Given the description of an element on the screen output the (x, y) to click on. 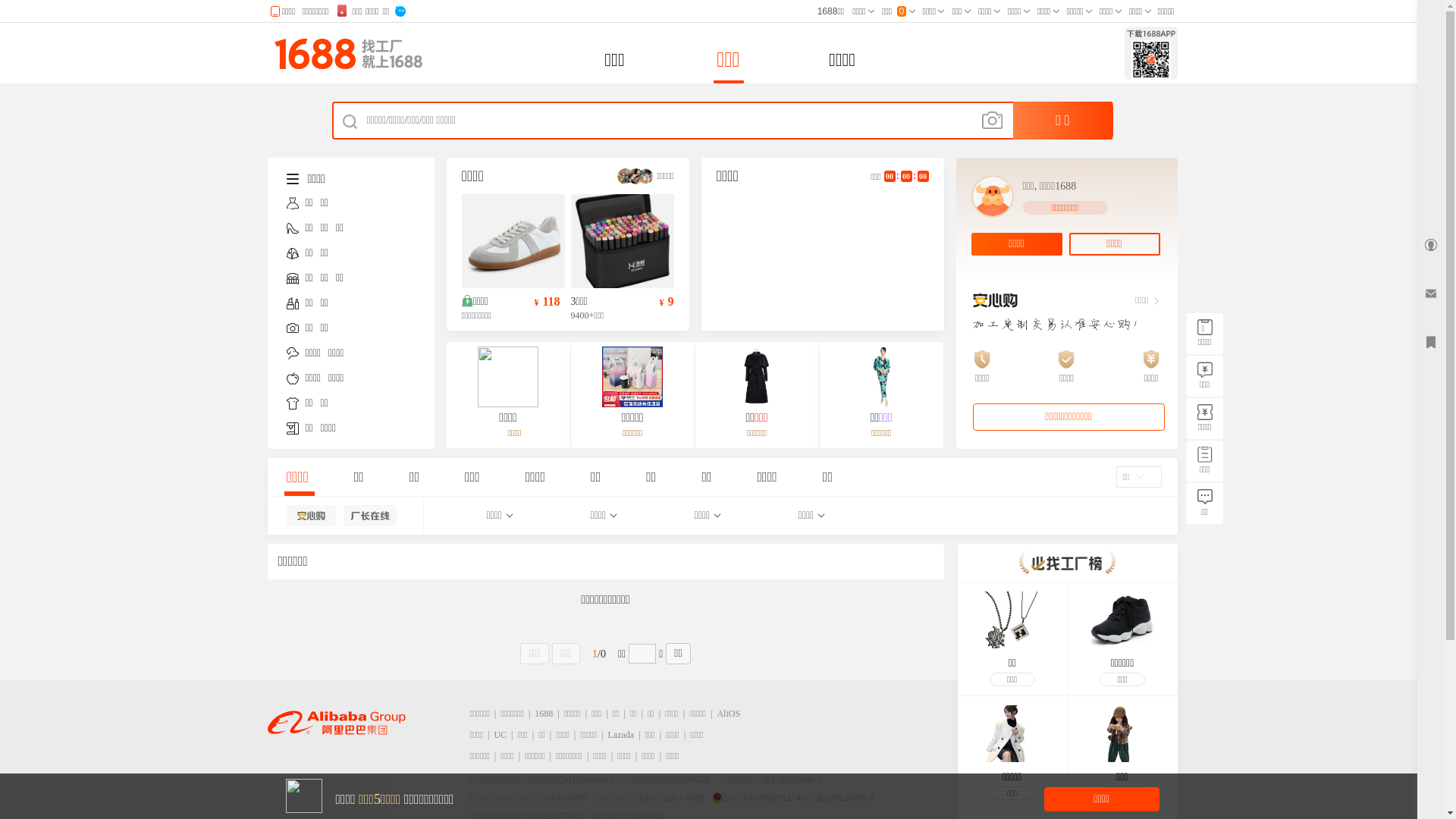
Lazada Element type: text (621, 734)
AliOS Element type: text (728, 713)
1688 Element type: text (543, 713)
UC Element type: text (499, 734)
